Given the description of an element on the screen output the (x, y) to click on. 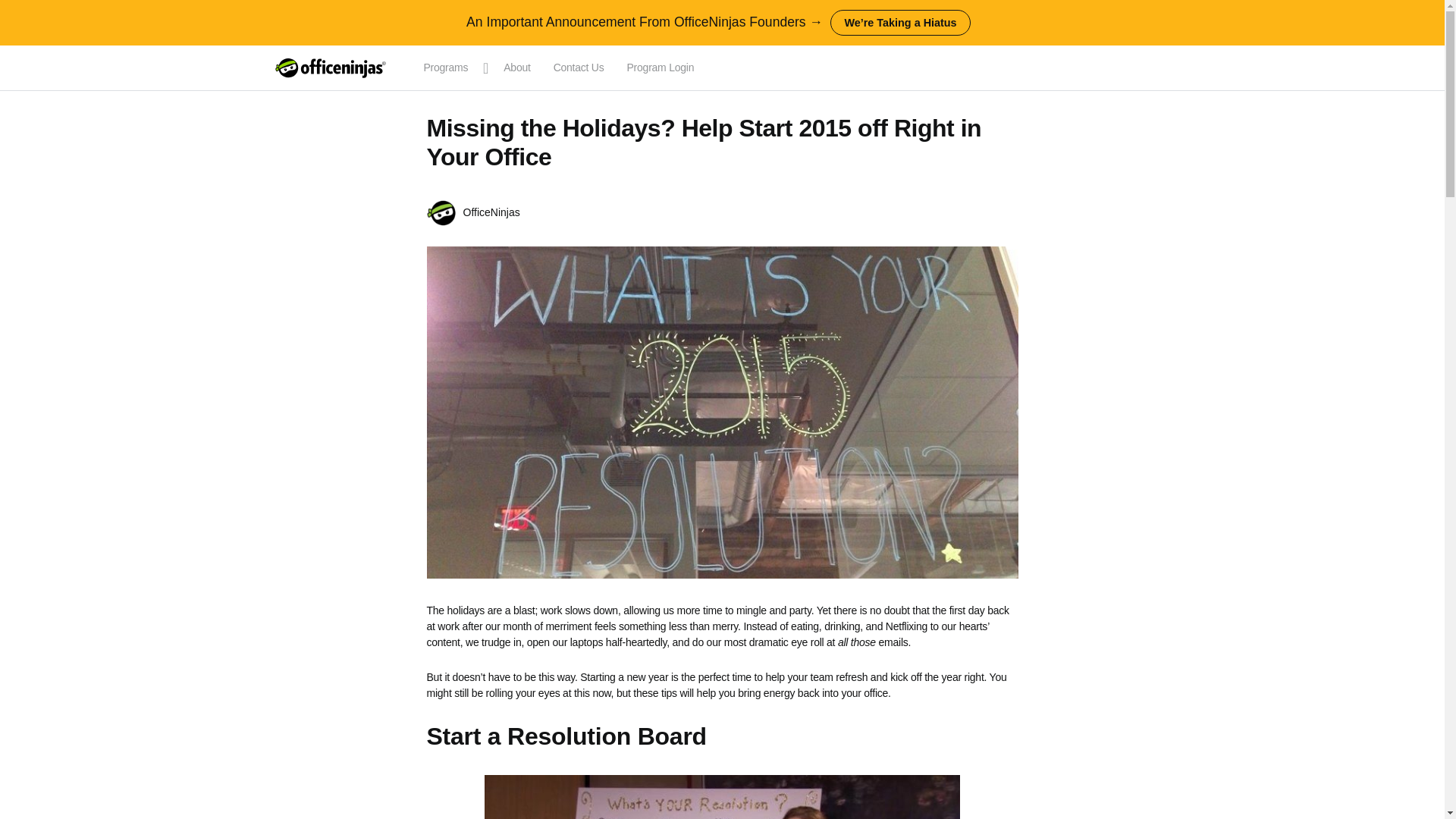
Contact Us (578, 67)
Program Login (660, 67)
About (516, 67)
Programs (450, 67)
OfficeNinjas (491, 212)
